Given the description of an element on the screen output the (x, y) to click on. 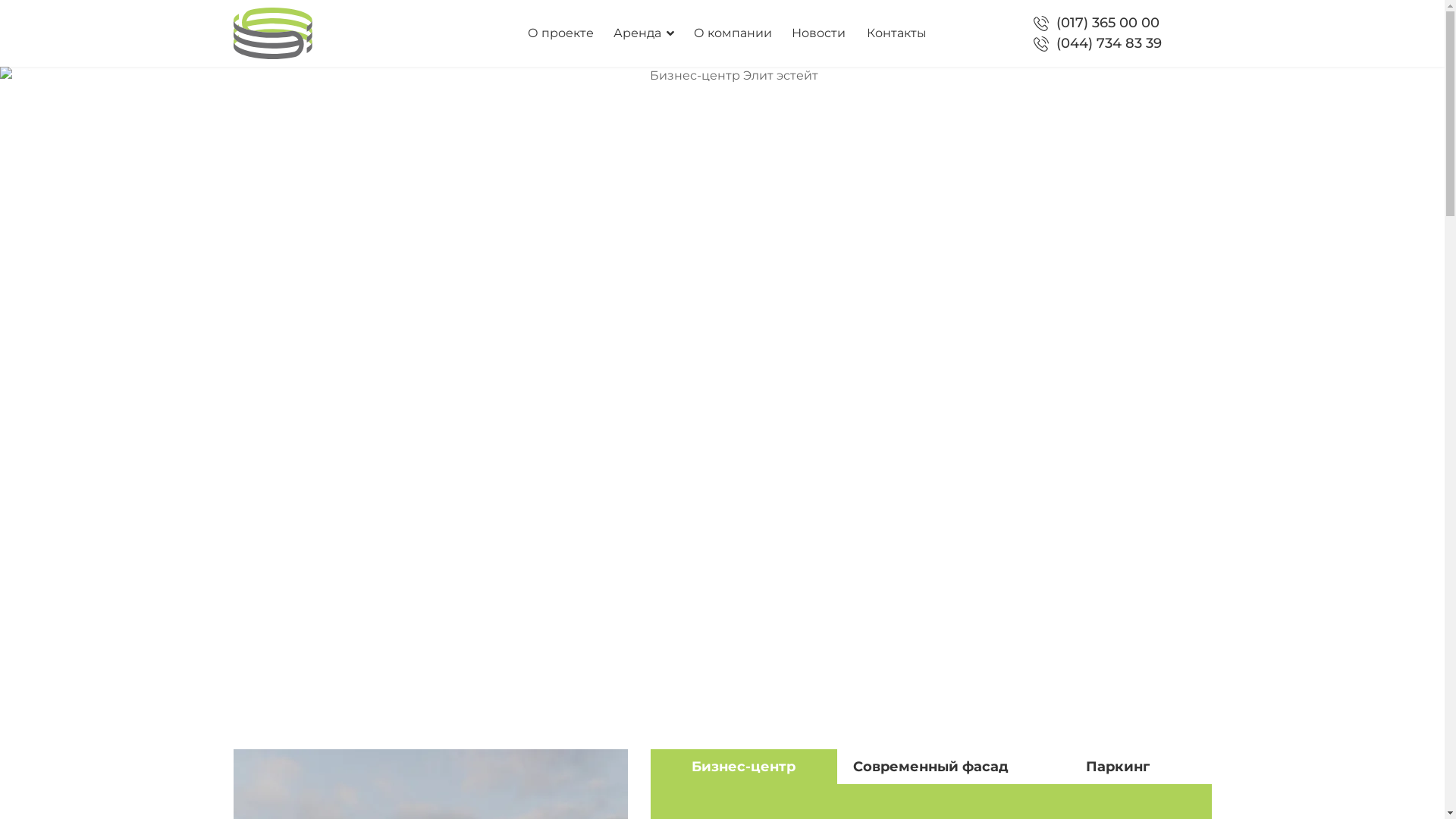
(017) 365 00 00 Element type: text (1107, 22)
(044) 734 83 39 Element type: text (1108, 43)
